Given the description of an element on the screen output the (x, y) to click on. 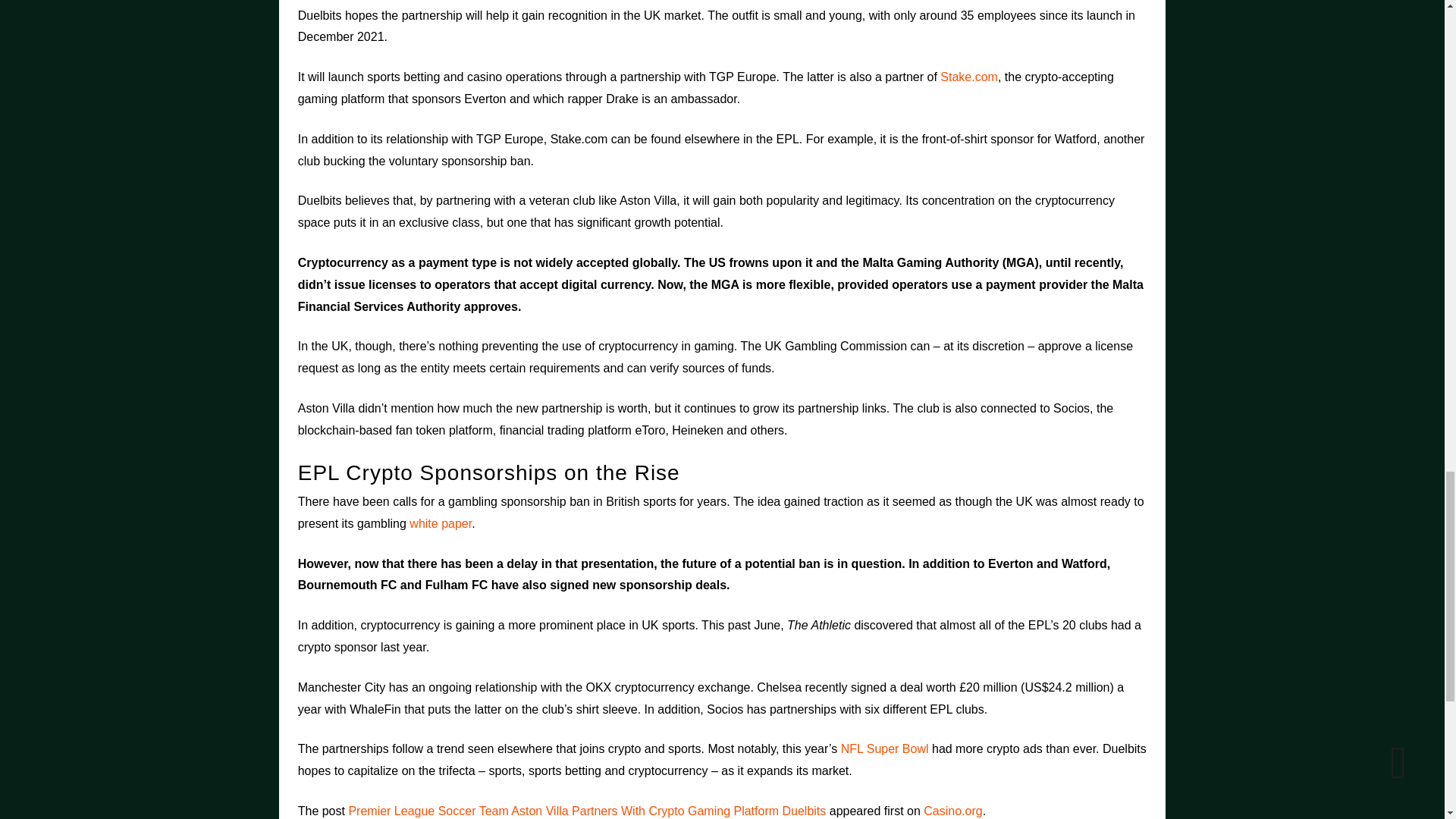
Stake.com (968, 76)
NFL Super Bowl (884, 748)
Casino.org (952, 810)
white paper (440, 522)
